Given the description of an element on the screen output the (x, y) to click on. 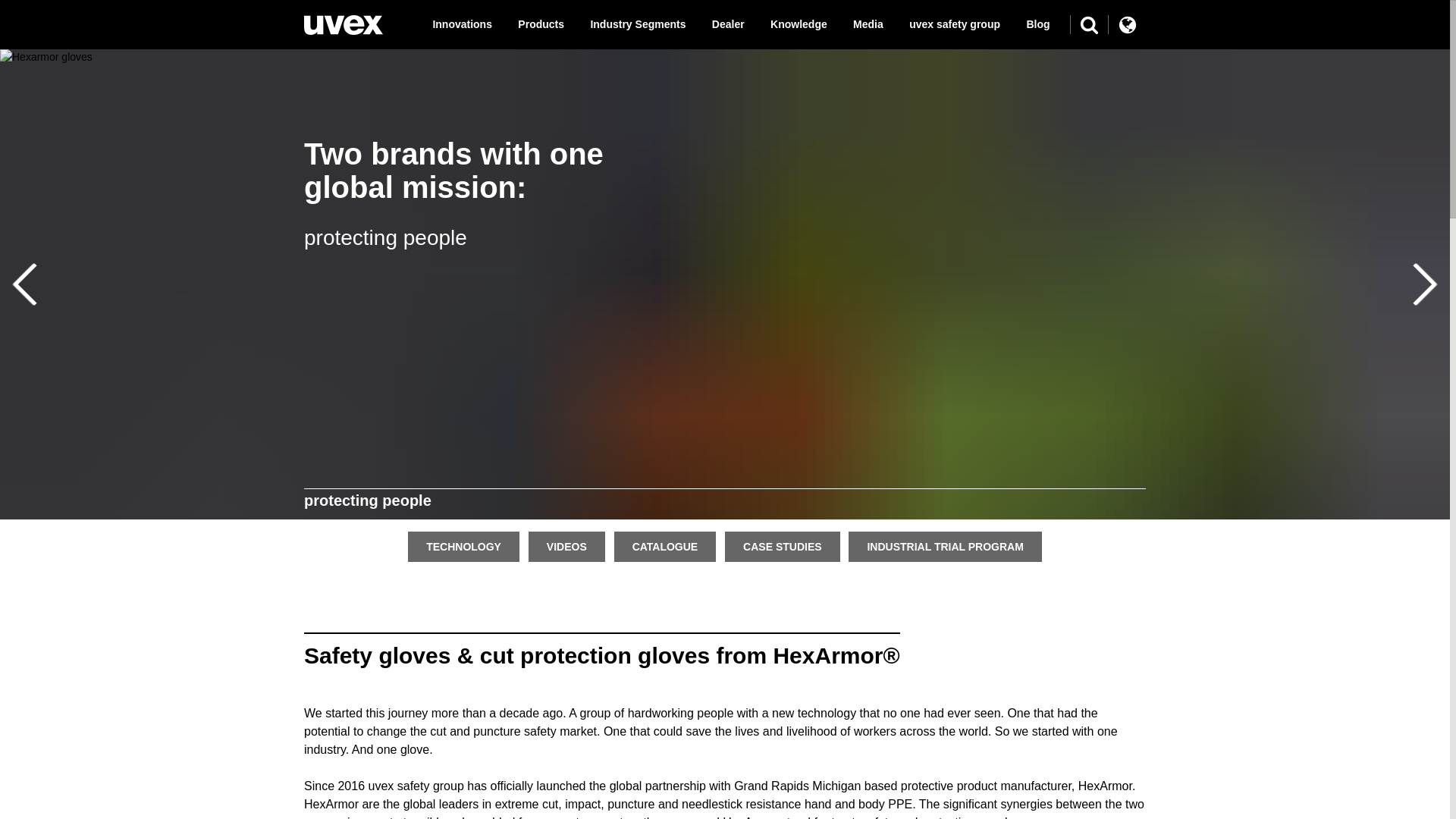
INDUSTRIAL TRIAL PROGRAM Element type: text (944, 546)
Blog Element type: text (1037, 24)
Toggle search Element type: hover (1088, 24)
CATALOGUE Element type: text (665, 546)
uvex safety Element type: hover (343, 24)
TECHNOLOGY Element type: text (463, 546)
CASE STUDIES Element type: text (781, 546)
VIDEOS Element type: text (566, 546)
Show language menu Element type: hover (1126, 24)
